Given the description of an element on the screen output the (x, y) to click on. 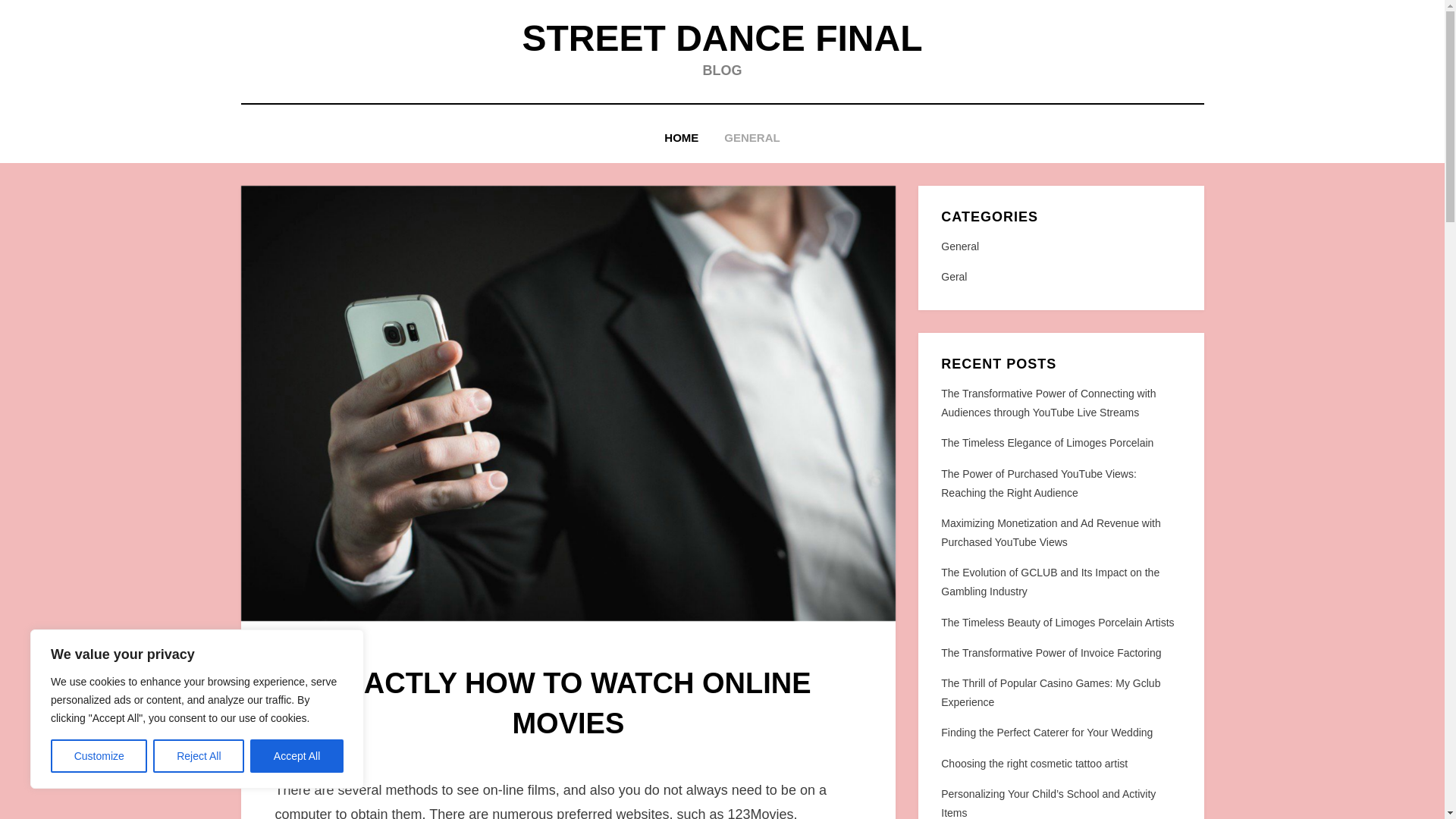
Street Dance Final (721, 38)
Geral (1060, 276)
Customize (98, 756)
General (1060, 246)
GENERAL (751, 137)
Reject All (198, 756)
Accept All (296, 756)
STREET DANCE FINAL (721, 38)
The Timeless Beauty of Limoges Porcelain Artists (1056, 622)
HOME (680, 137)
The Timeless Elegance of Limoges Porcelain (1046, 442)
